Given the description of an element on the screen output the (x, y) to click on. 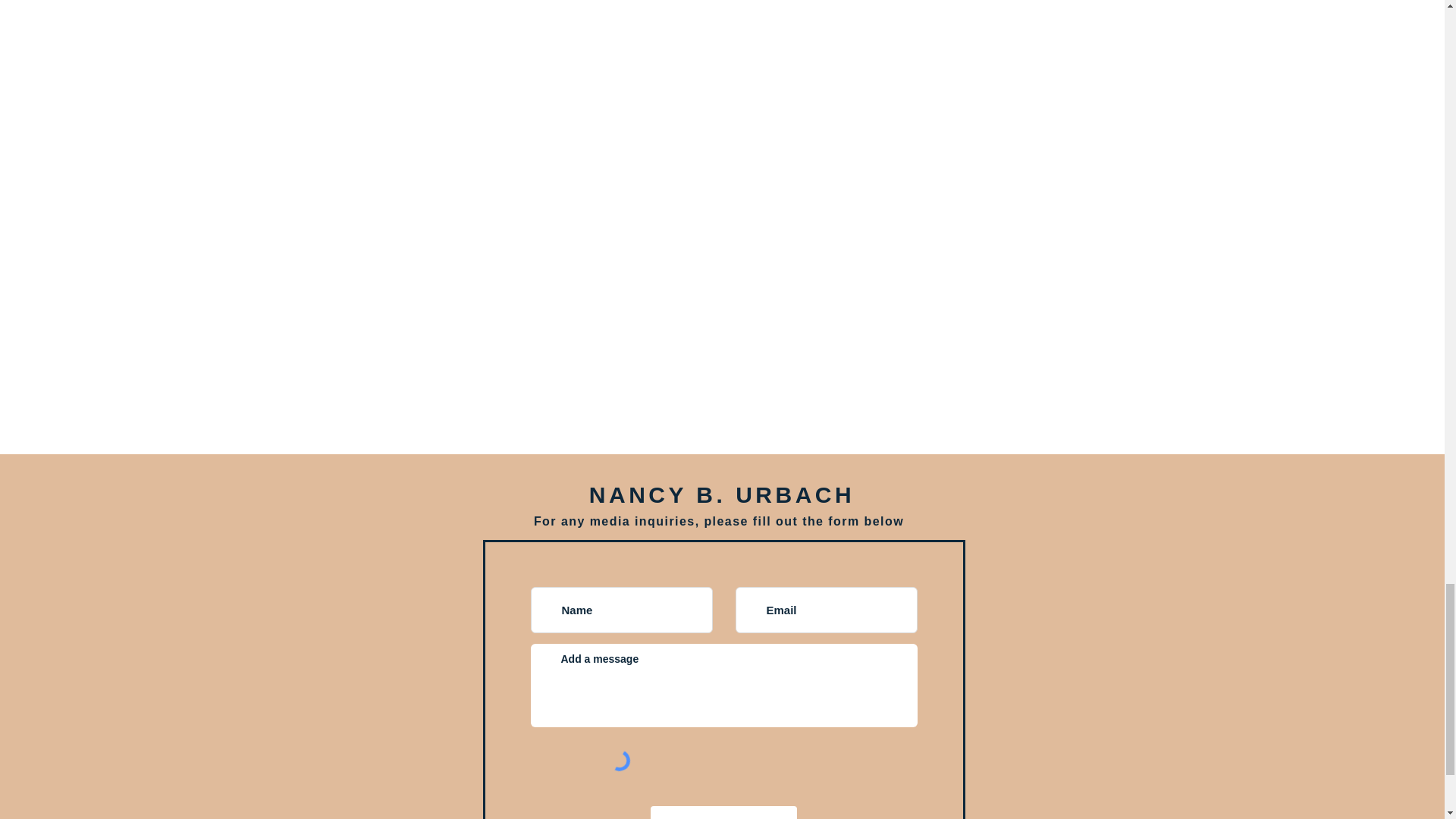
Submit (723, 812)
NANCY B. URBACH (721, 494)
